Given the description of an element on the screen output the (x, y) to click on. 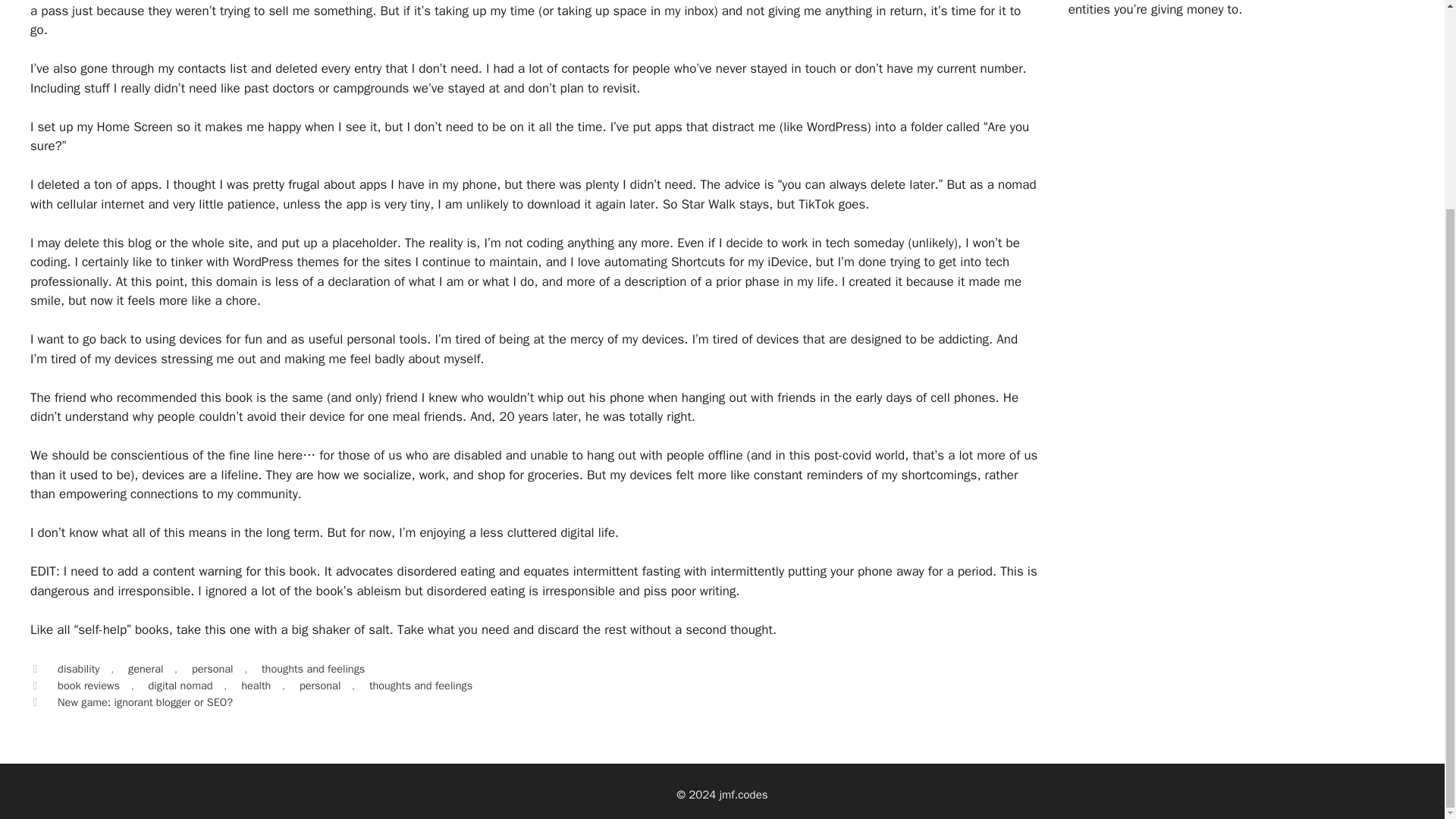
disability (78, 668)
thoughts and feelings (312, 668)
Previous (137, 702)
health (256, 685)
personal (319, 685)
digital nomad (180, 685)
thoughts and feelings (420, 685)
general (145, 668)
personal (212, 668)
New game: ignorant blogger or SEO? (145, 702)
book reviews (88, 685)
